Given the description of an element on the screen output the (x, y) to click on. 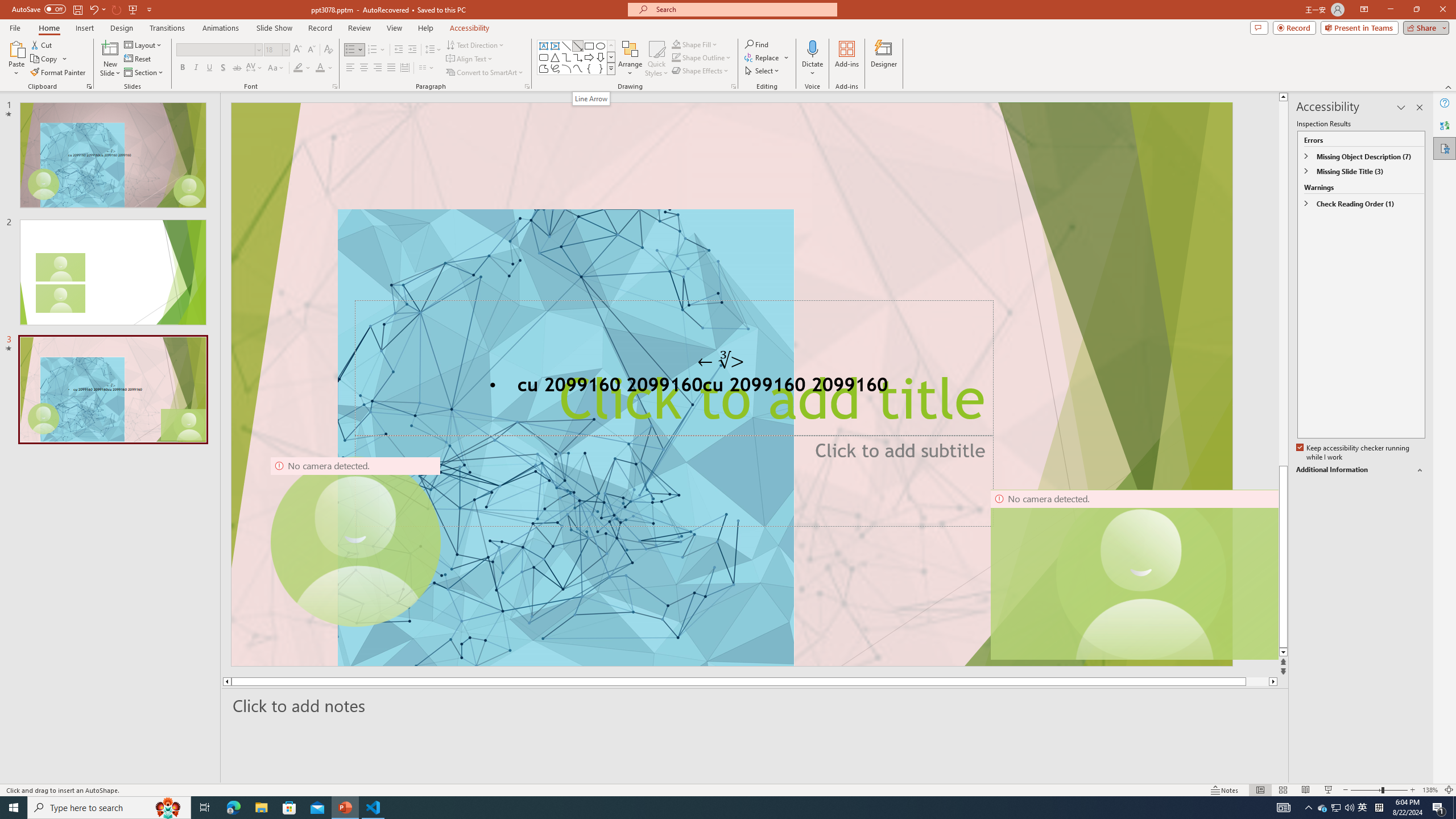
Convert to SmartArt (485, 72)
Paragraph... (526, 85)
Slide Notes (755, 705)
